Given the description of an element on the screen output the (x, y) to click on. 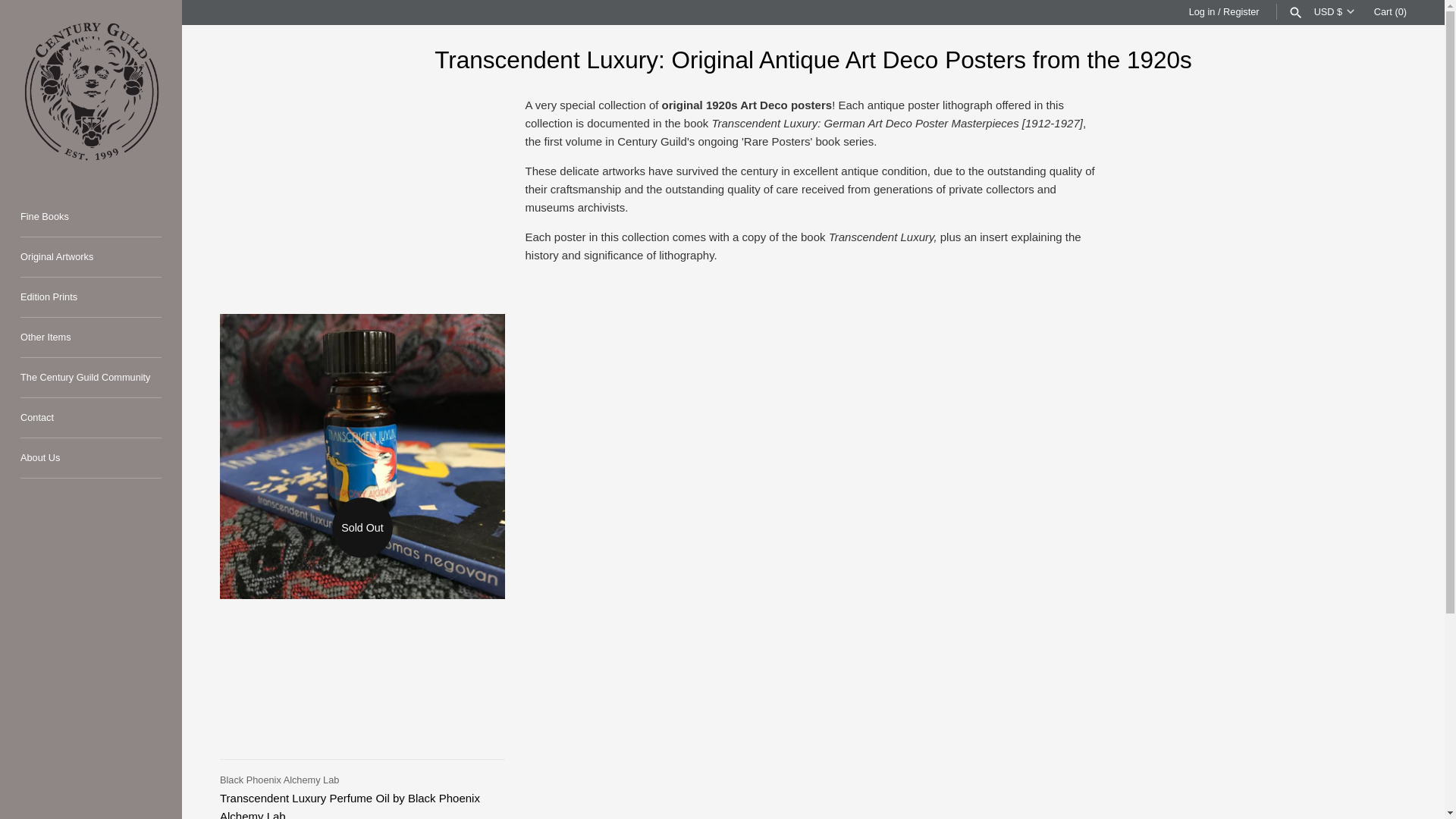
Century Guild (91, 90)
Log in (1202, 11)
Register (1241, 11)
